Given the description of an element on the screen output the (x, y) to click on. 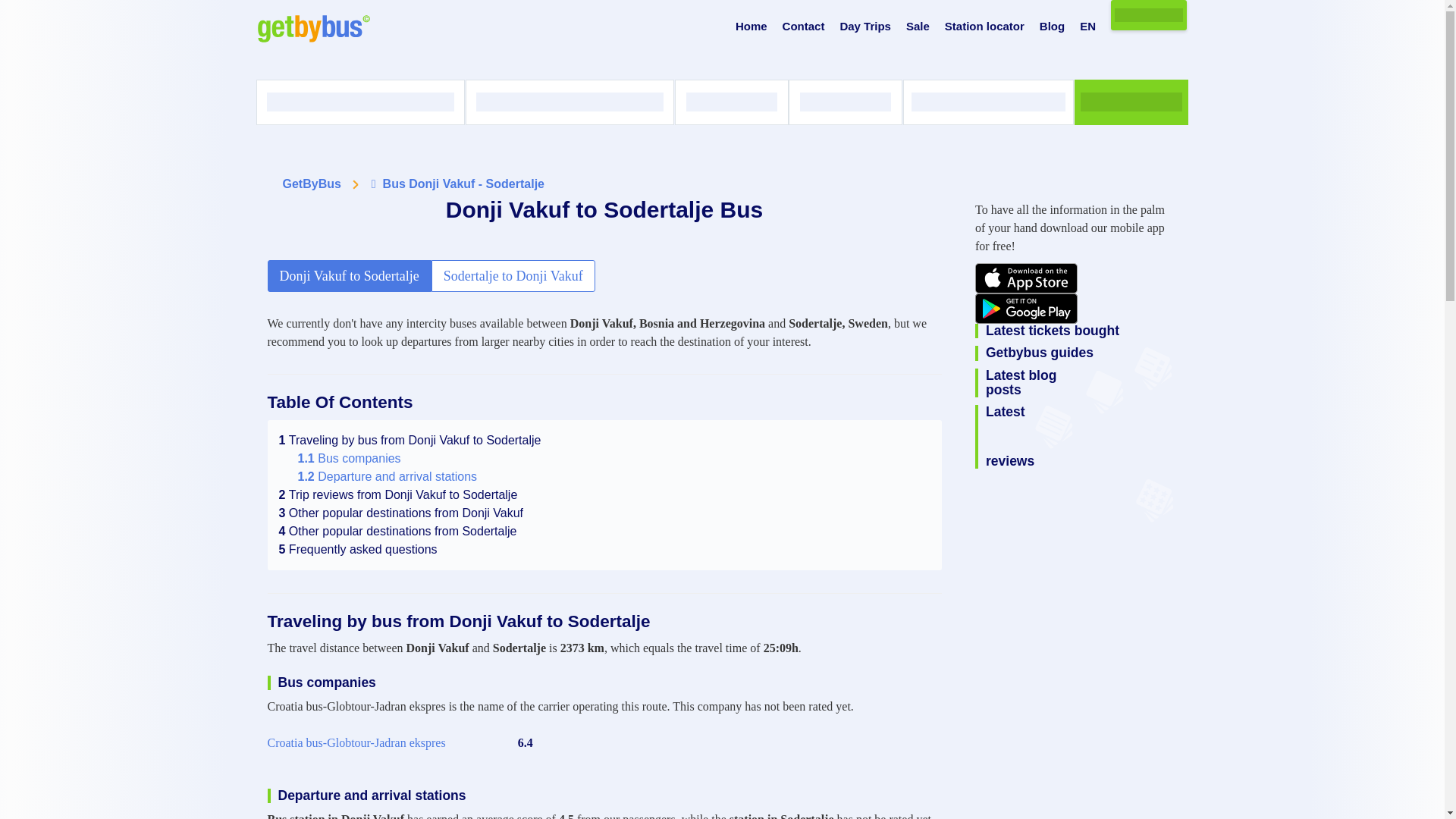
Day Trips (865, 26)
Traveling by bus from Donji Vakuf to Sodertalje (410, 440)
Station locator (984, 26)
GetByBus (311, 183)
Frequently asked questions (358, 549)
 GetByBus (311, 183)
Croatia bus-Globtour-Jadran ekspres (355, 742)
Bus companies (348, 458)
Home (751, 26)
Blog (1051, 26)
EN (1088, 26)
Contact (804, 26)
Sodertalje to Donji Vakuf (512, 275)
Other popular destinations from Donji Vakuf (401, 512)
Departure and arrival stations (387, 476)
